Given the description of an element on the screen output the (x, y) to click on. 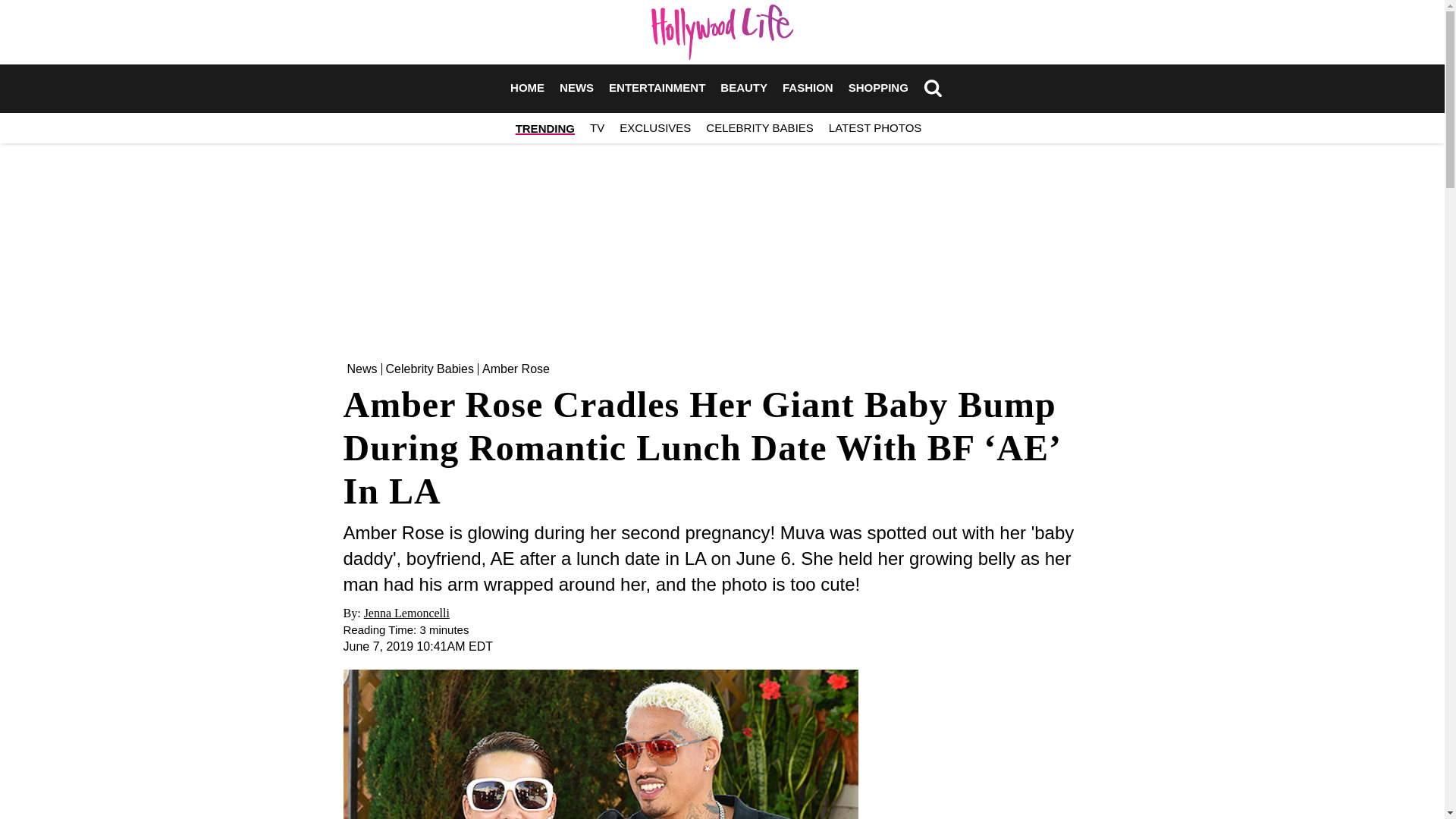
Posts by Jenna Lemoncelli (406, 612)
SHOPPING (878, 88)
ENTERTAINMENT (656, 88)
Hollywood Life (722, 32)
BEAUTY (743, 88)
FASHION (807, 88)
